Given the description of an element on the screen output the (x, y) to click on. 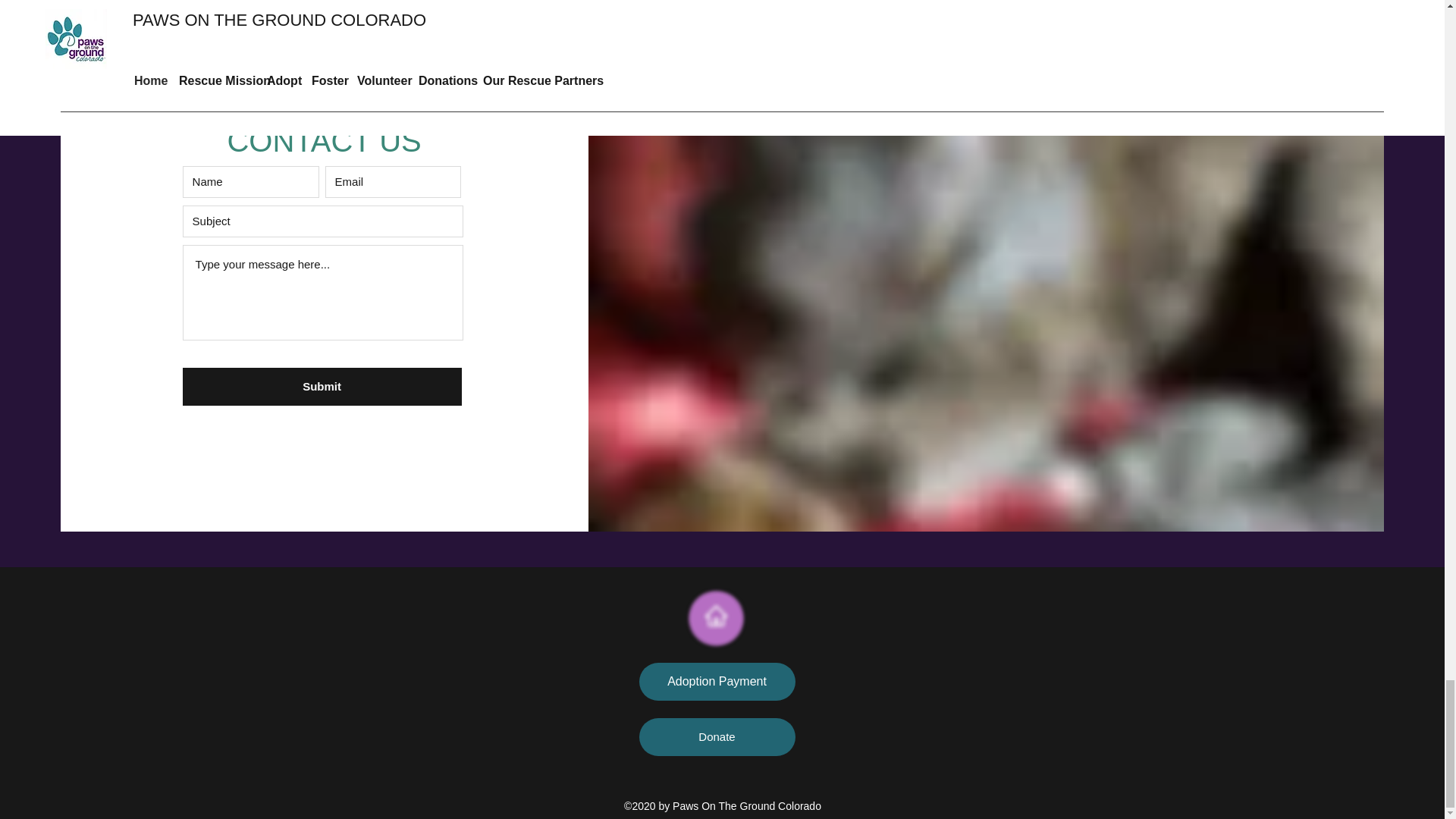
Adoption Payment (716, 681)
Donate (716, 736)
Submit (322, 386)
